Given the description of an element on the screen output the (x, y) to click on. 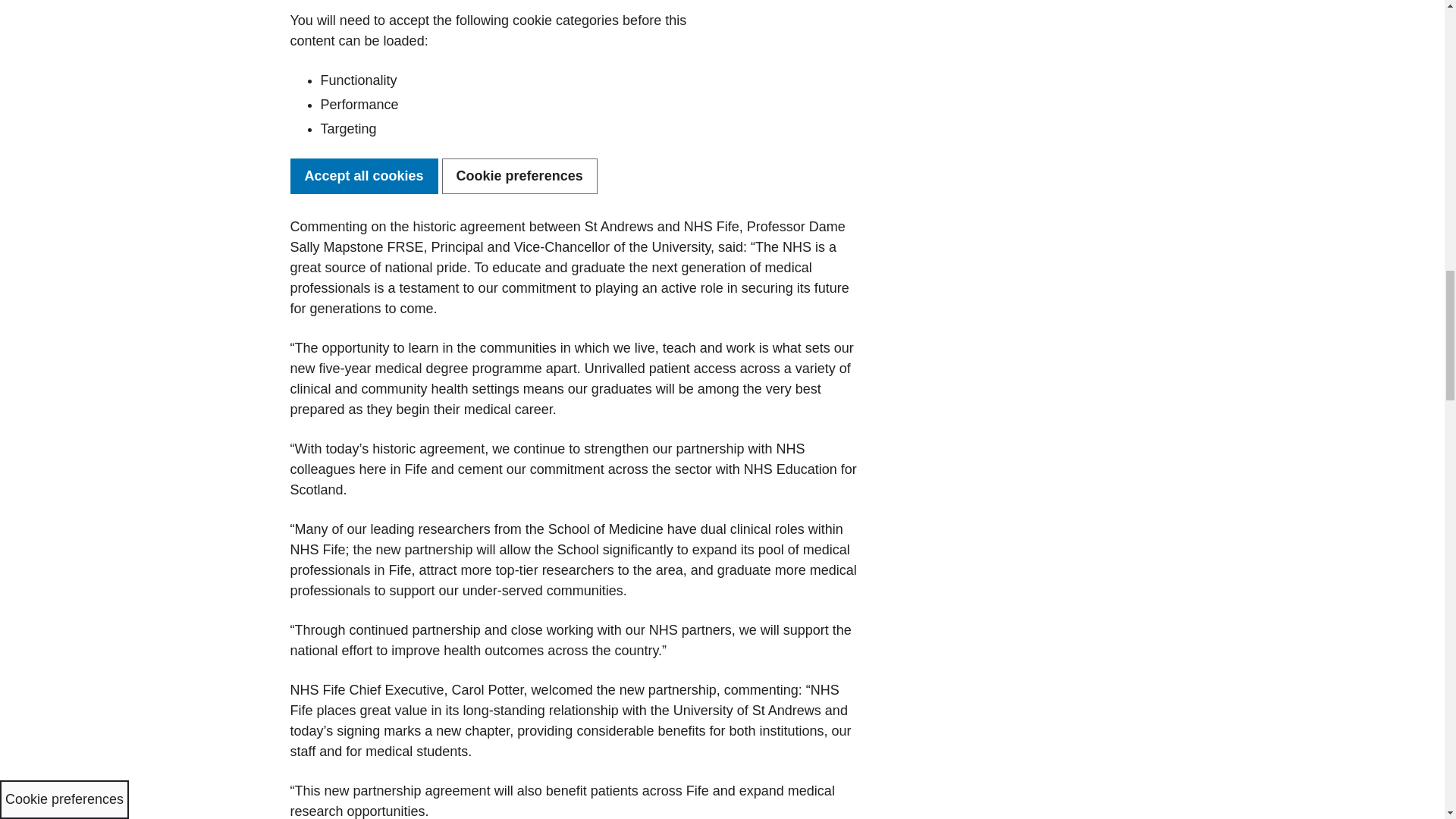
Accept all cookies (363, 176)
Cookie preferences (519, 176)
